Given the description of an element on the screen output the (x, y) to click on. 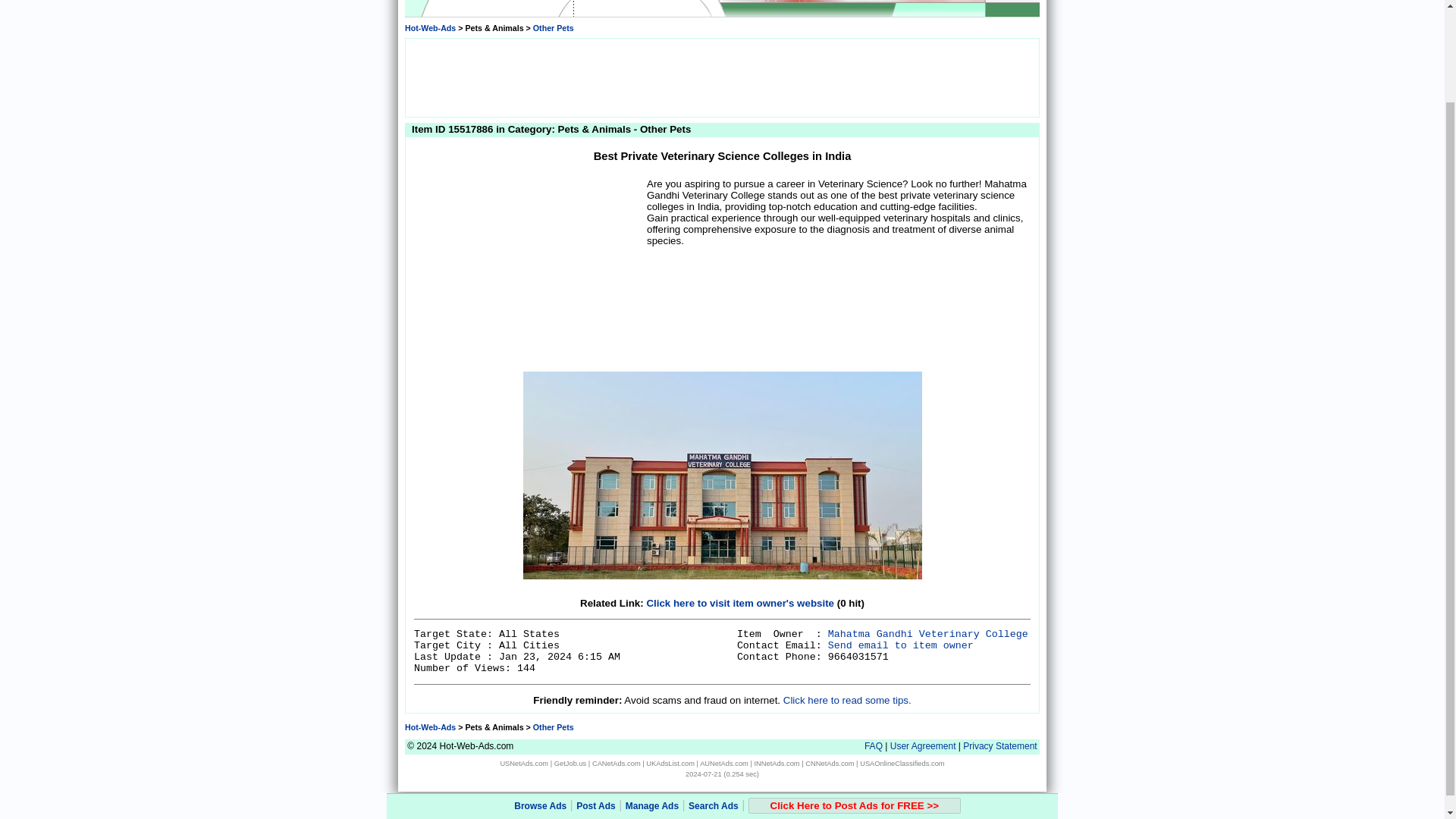
UKAdsList.com (670, 763)
Advertisement (527, 271)
Send email to item owner (901, 645)
Search Ads (713, 697)
User Agreement (922, 746)
AUNetAds.com (724, 763)
Hot-Web-Ads (429, 27)
GetJob.us (570, 763)
Other Pets (552, 27)
FAQ (873, 746)
USNetAds.com (523, 763)
Post Ads (595, 697)
Privacy Statement (999, 746)
Go Back to Hot-Web-Ads.com Home Page (429, 27)
Manage Ads (652, 697)
